Given the description of an element on the screen output the (x, y) to click on. 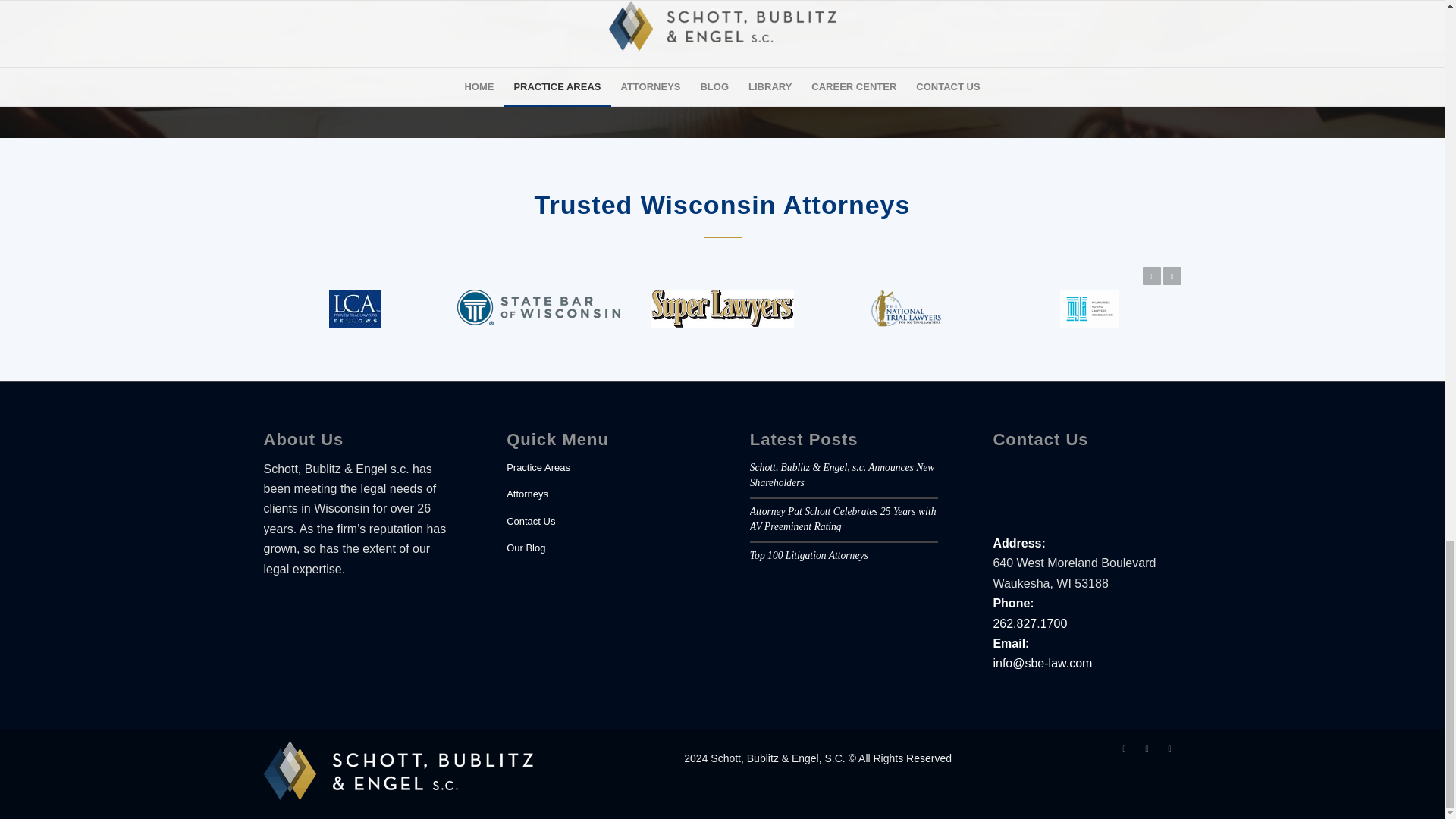
X (1146, 748)
LinkedIn (1169, 748)
Facebook (1124, 748)
